Given the description of an element on the screen output the (x, y) to click on. 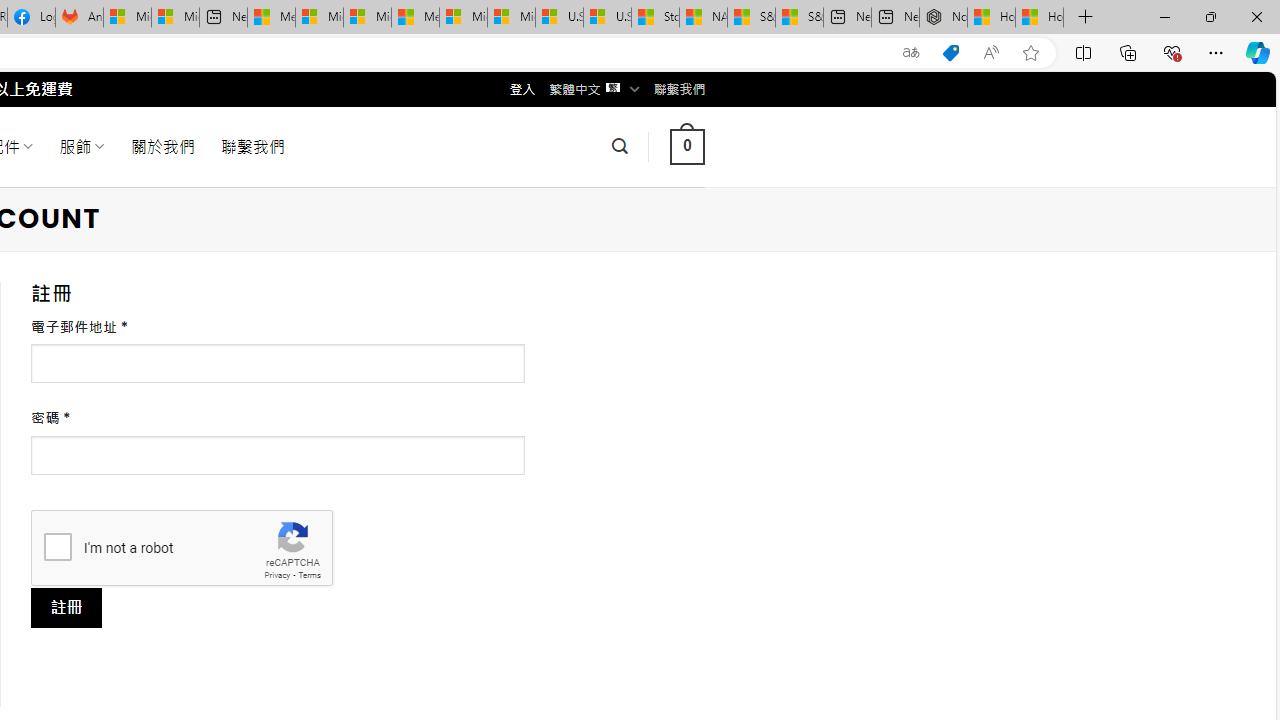
Terms (309, 575)
How to Use a Monitor With Your Closed Laptop (1039, 17)
Privacy (276, 575)
Microsoft account | Home (367, 17)
